Given the description of an element on the screen output the (x, y) to click on. 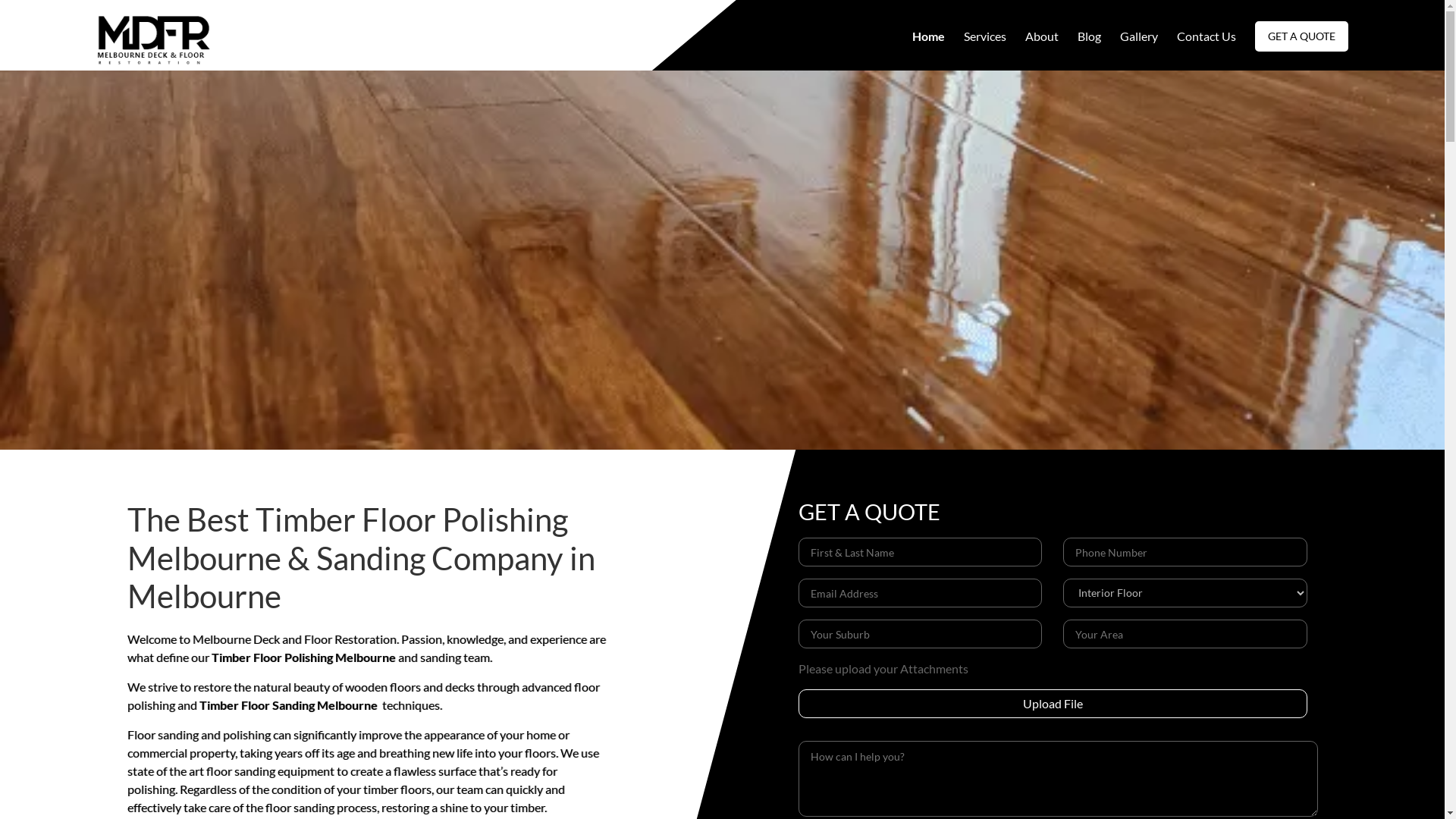
  Element type: text (378, 704)
Services Element type: text (984, 36)
Gallery Element type: text (1138, 36)
Blog Element type: text (1088, 36)
Contact Us Element type: text (1206, 36)
Home Element type: text (927, 36)
About Element type: text (1041, 36)
GET A QUOTE Element type: text (1300, 36)
